Given the description of an element on the screen output the (x, y) to click on. 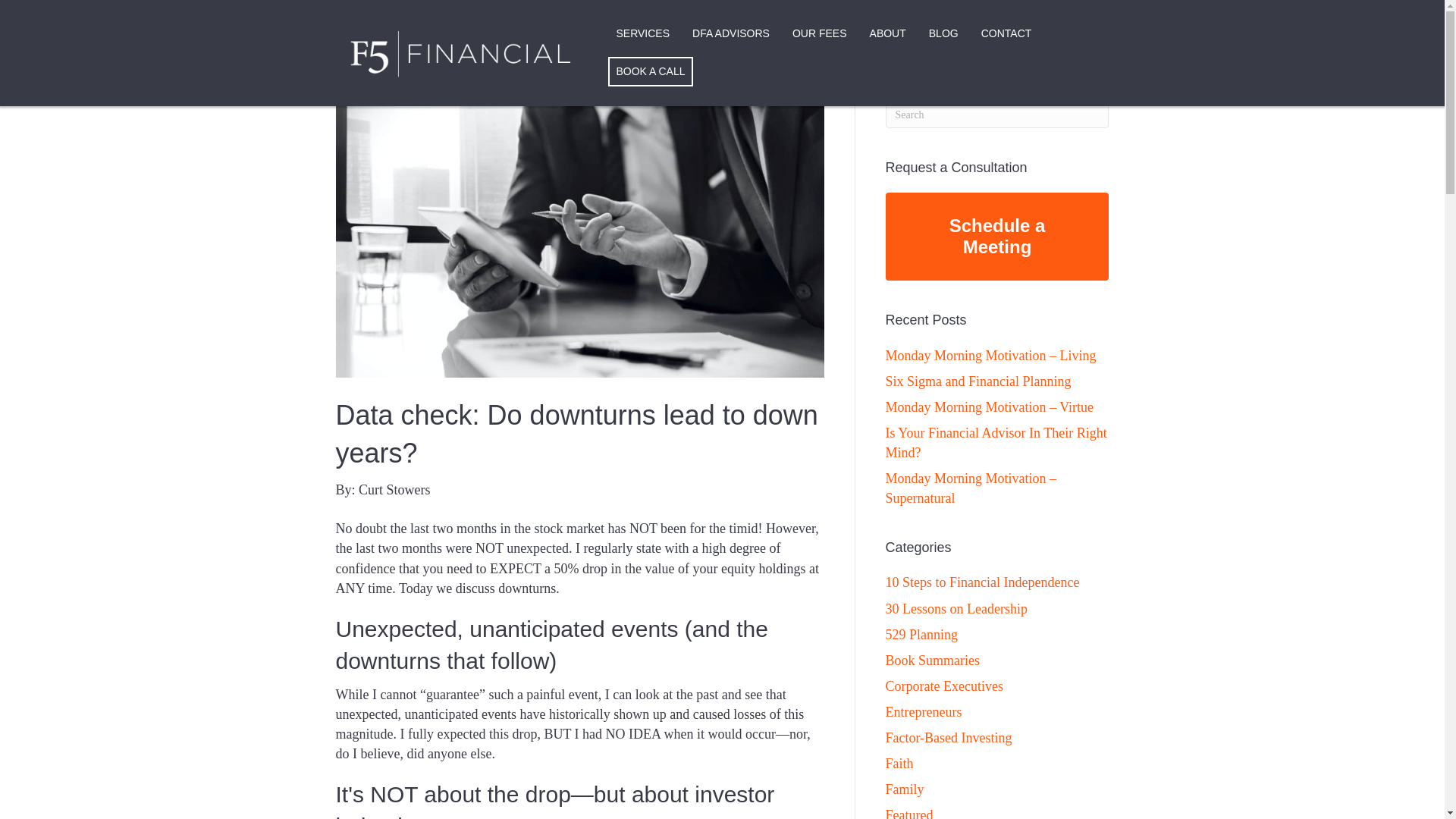
OUR FEES (819, 34)
Type and press Enter to search. (997, 114)
F5 Financial Blog (943, 34)
CONTACT (1006, 34)
SERVICES (642, 34)
ABOUT (888, 34)
DFA ADVISORS (730, 34)
BLOG (943, 34)
BOOK A CALL (650, 71)
